Given the description of an element on the screen output the (x, y) to click on. 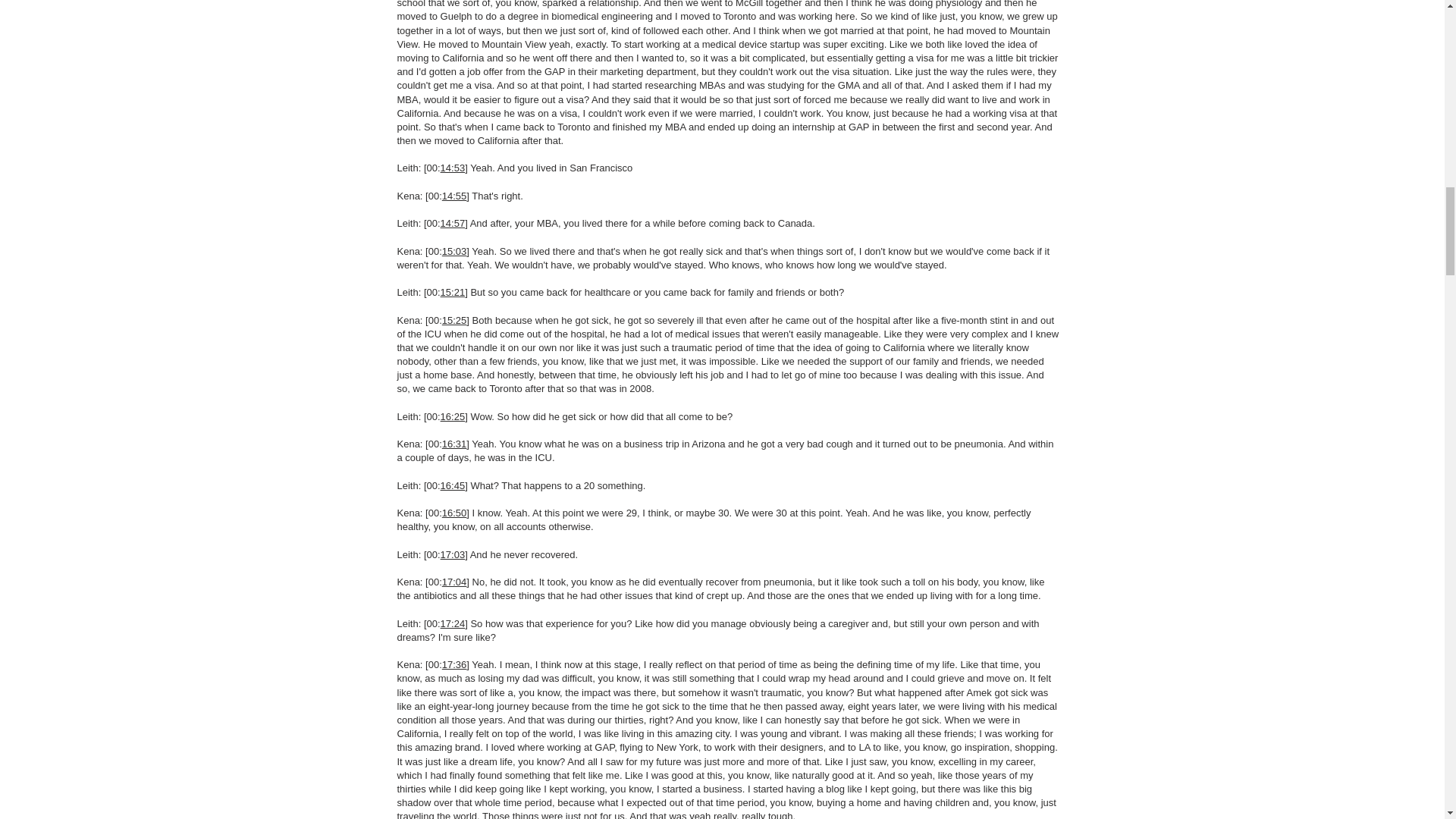
16:25 (453, 416)
14:53 (453, 167)
15:03 (454, 251)
15:25 (454, 319)
16:31 (454, 443)
14:57 (453, 223)
14:55 (454, 195)
17:04 (454, 582)
16:45 (453, 485)
17:03 (453, 554)
